Given the description of an element on the screen output the (x, y) to click on. 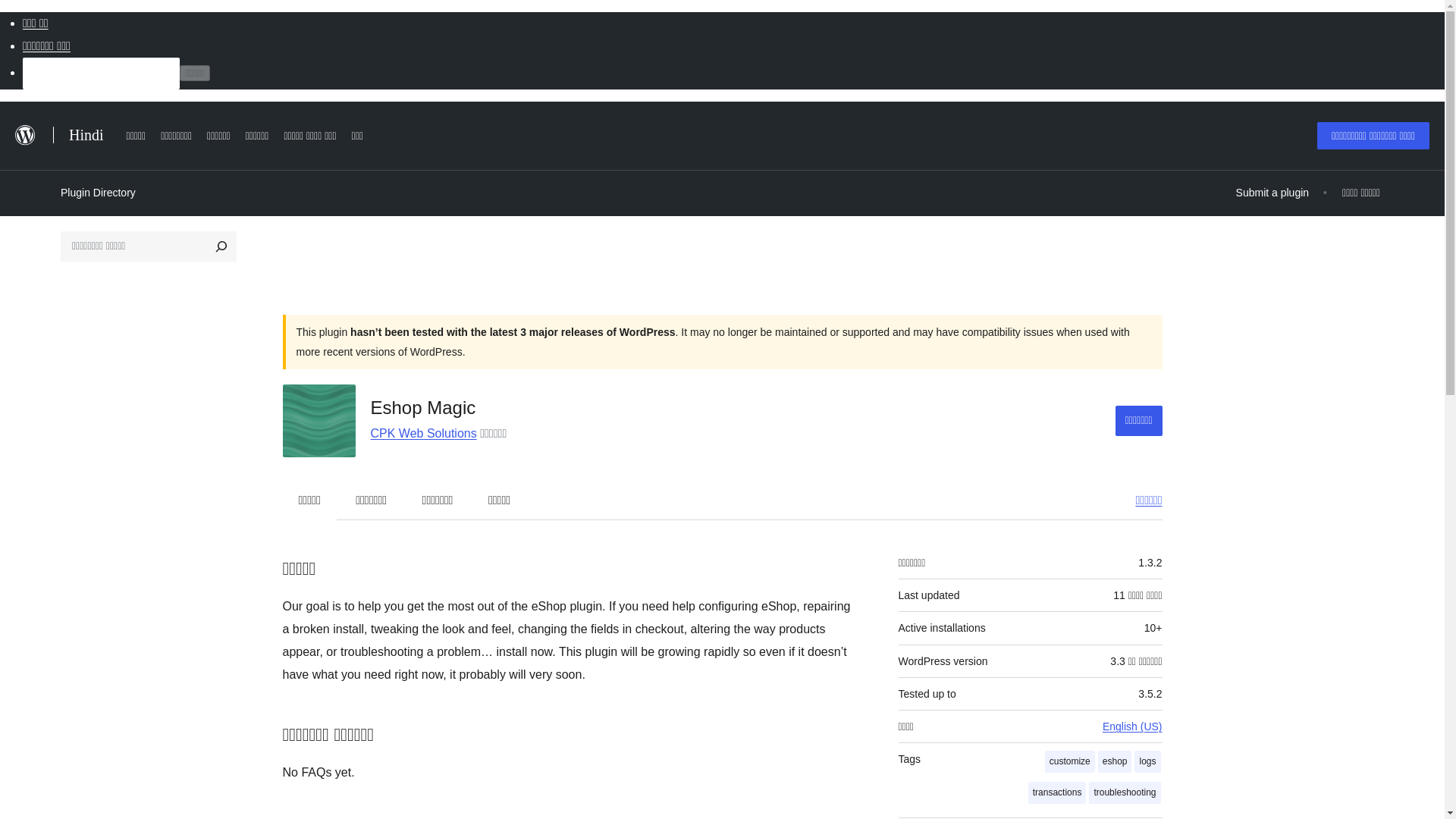
Plugin Directory (97, 192)
Submit a plugin (1272, 193)
CPK Web Solutions (422, 432)
